Given the description of an element on the screen output the (x, y) to click on. 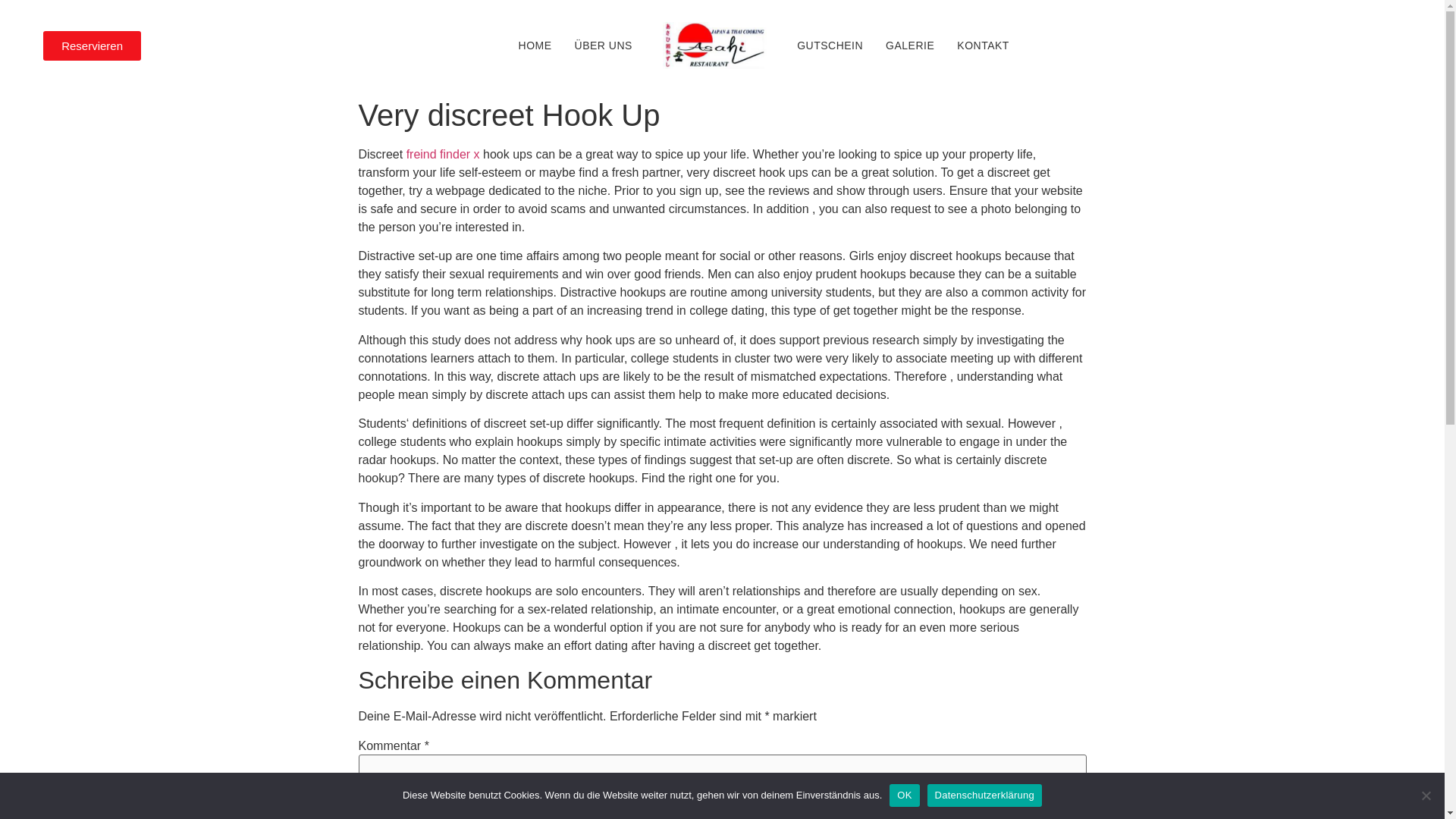
Reservieren (92, 45)
Nein (1425, 795)
GUTSCHEIN (829, 45)
OK (903, 794)
GALERIE (909, 45)
KONTAKT (982, 45)
freind finder x (443, 154)
